Given the description of an element on the screen output the (x, y) to click on. 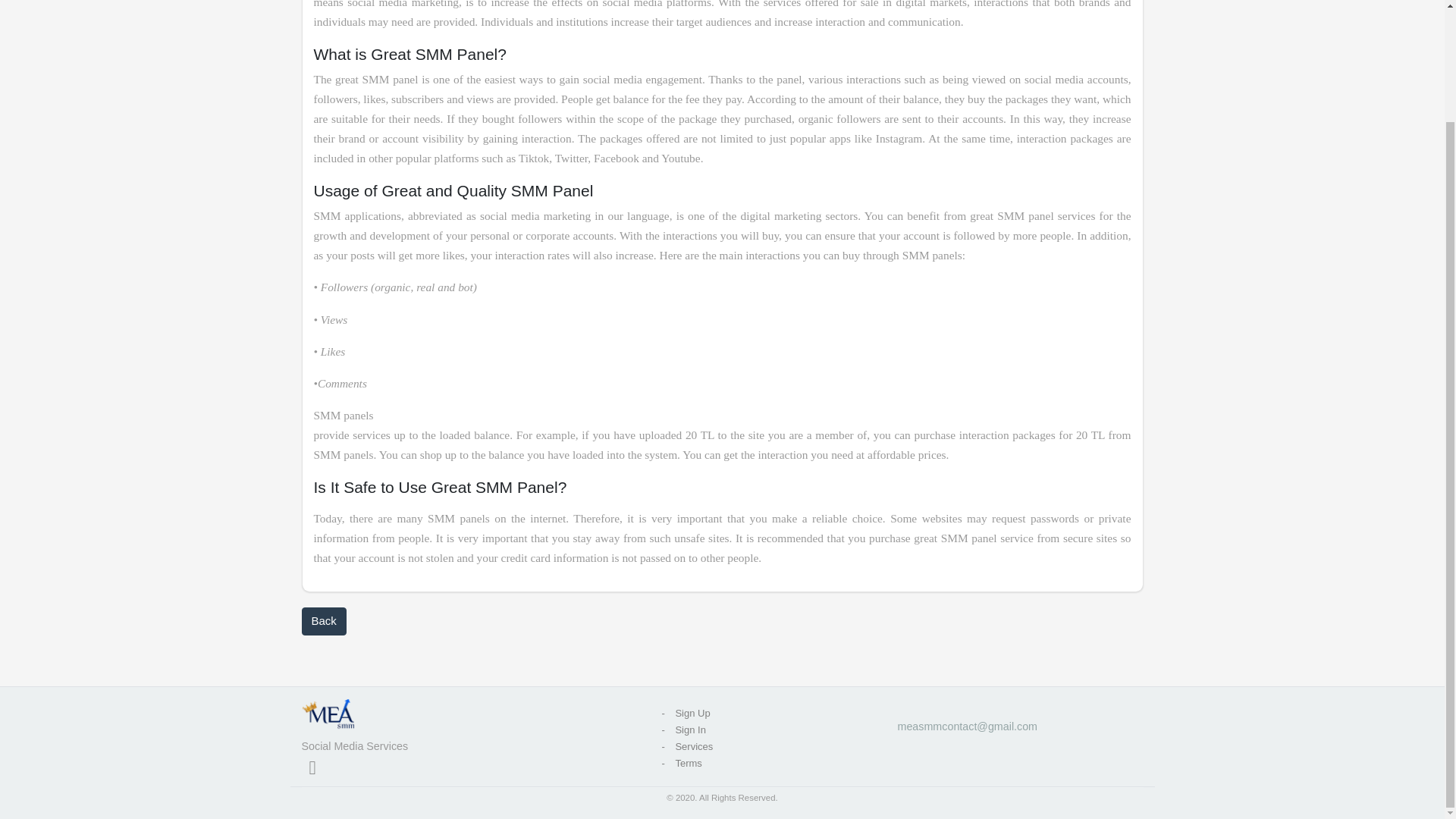
Sign Up (688, 713)
measmm.com (327, 715)
Services (689, 746)
Sign In (685, 729)
Back (323, 621)
Terms (683, 763)
